Given the description of an element on the screen output the (x, y) to click on. 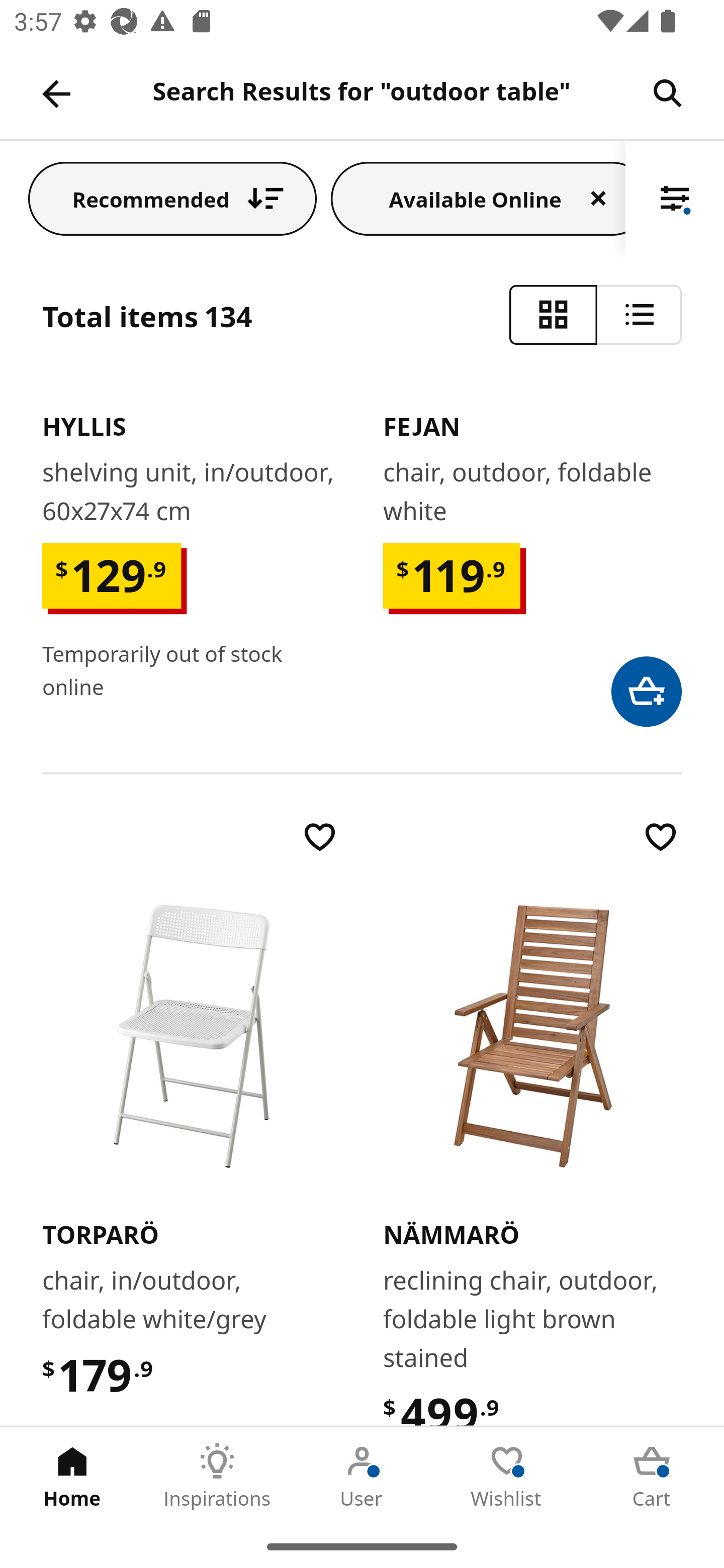
Recommended (172, 198)
Available Online (477, 198)
Home
Tab 1 of 5 (72, 1476)
Inspirations
Tab 2 of 5 (216, 1476)
User
Tab 3 of 5 (361, 1476)
Wishlist
Tab 4 of 5 (506, 1476)
Cart
Tab 5 of 5 (651, 1476)
